Given the description of an element on the screen output the (x, y) to click on. 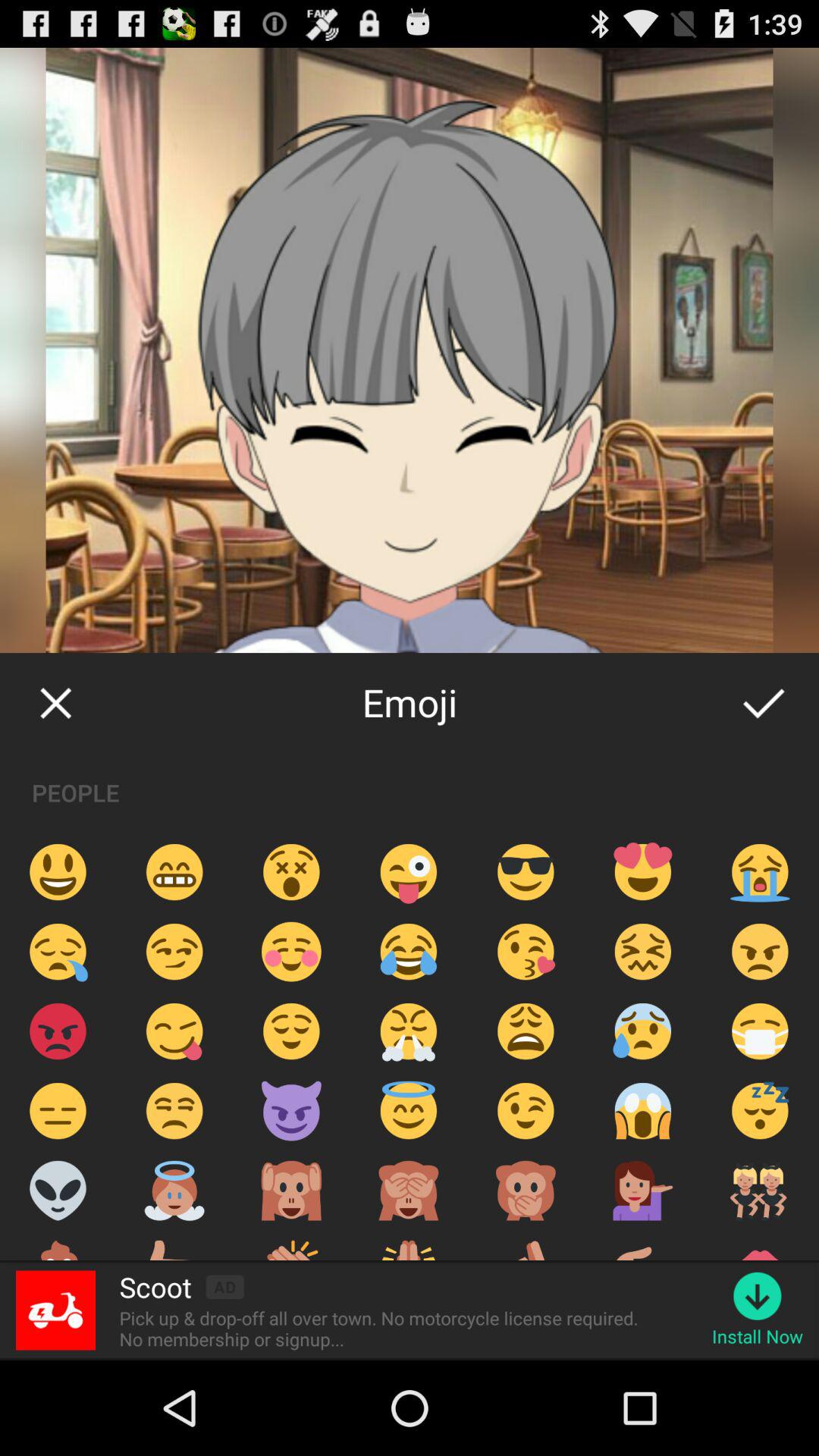
press the icon above the install now (757, 1296)
